Given the description of an element on the screen output the (x, y) to click on. 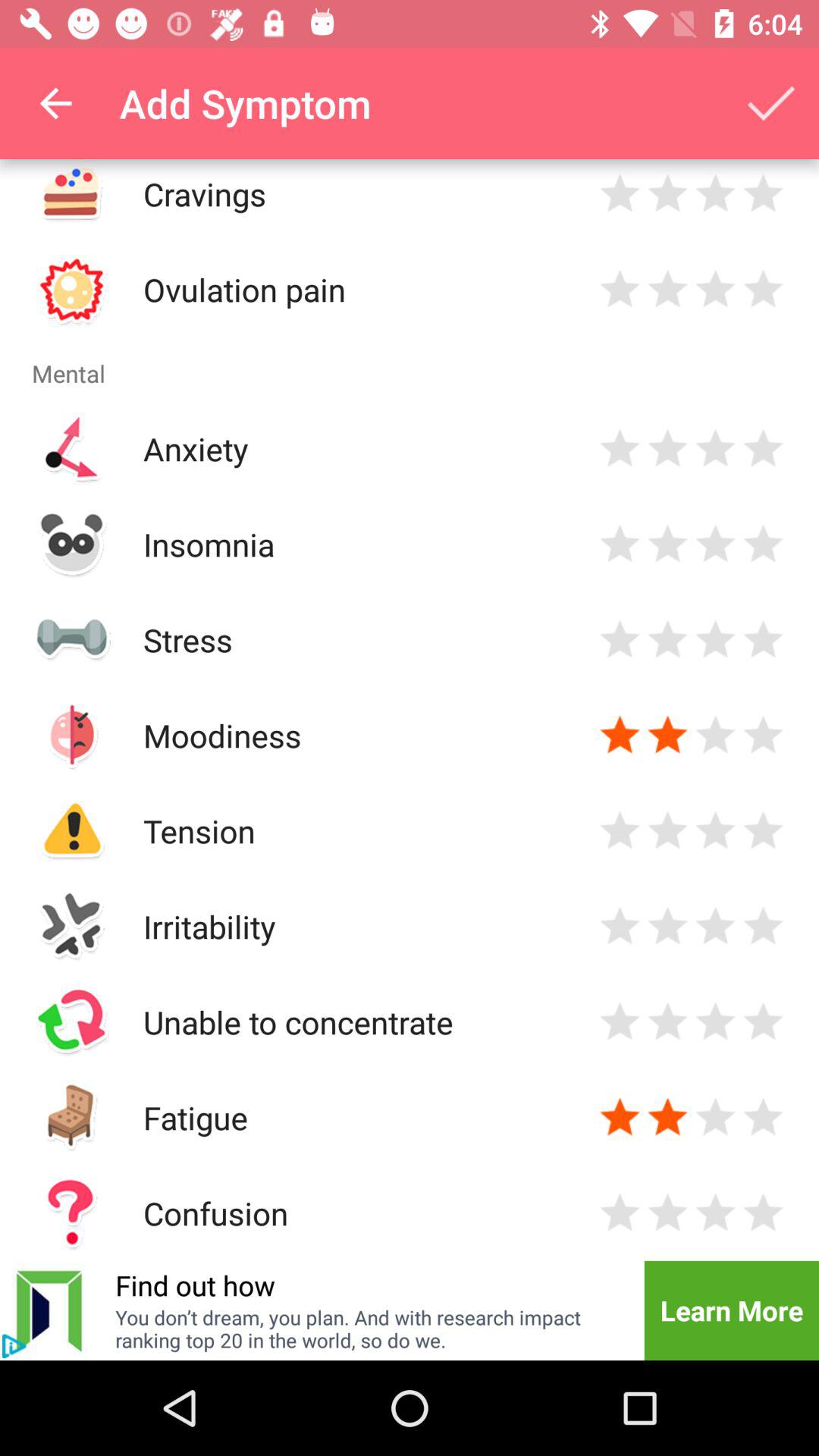
low irritability (619, 926)
